Given the description of an element on the screen output the (x, y) to click on. 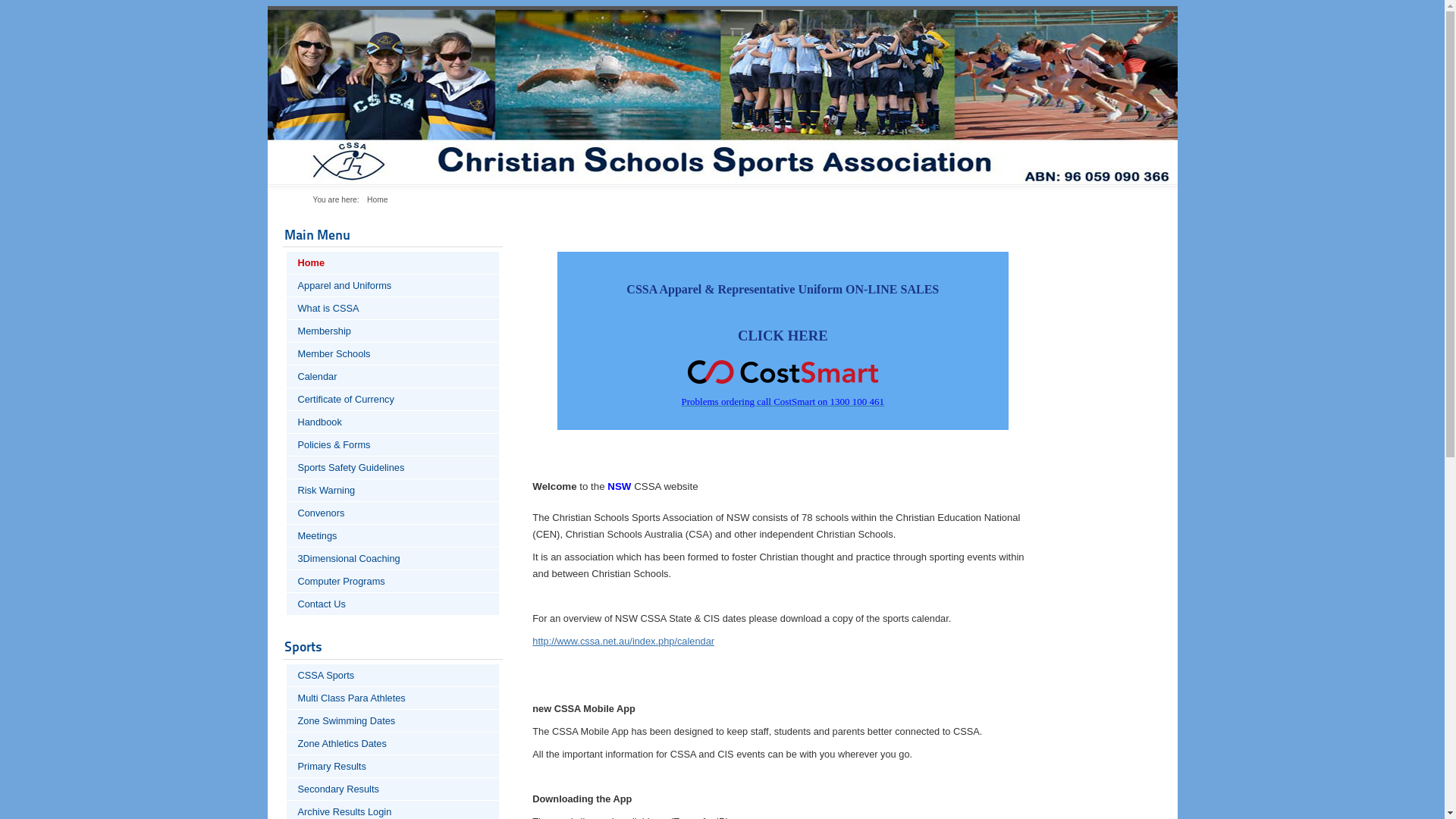
3Dimensional Coaching Element type: text (392, 558)
Computer Programs Element type: text (392, 581)
Contact Us Element type: text (392, 604)
CSSA Sports Element type: text (392, 675)
Primary Results Element type: text (392, 766)
Multi Class Para Athletes Element type: text (392, 698)
CSSA Apparel & Representative Uniform ON-LINE SALES Element type: text (782, 288)
Problems ordering call CostSmart on 1300 100 461 Element type: text (782, 401)
Meetings Element type: text (392, 535)
Sports Safety Guidelines Element type: text (392, 467)
Membership Element type: text (392, 331)
http://www.cssa.net.au/index.php/calendar Element type: text (623, 640)
Certificate of Currency Element type: text (392, 399)
Home Element type: text (392, 262)
Policies & Forms Element type: text (392, 444)
Zone Swimming Dates Element type: text (392, 720)
Risk Warning Element type: text (392, 490)
Handbook Element type: text (392, 422)
Secondary Results Element type: text (392, 789)
Zone Athletics Dates Element type: text (392, 743)
CLICK HERE Element type: text (782, 335)
Convenors Element type: text (392, 513)
Member Schools Element type: text (392, 353)
Apparel and Uniforms Element type: text (392, 285)
What is CSSA Element type: text (392, 308)
Calendar Element type: text (392, 376)
